Given the description of an element on the screen output the (x, y) to click on. 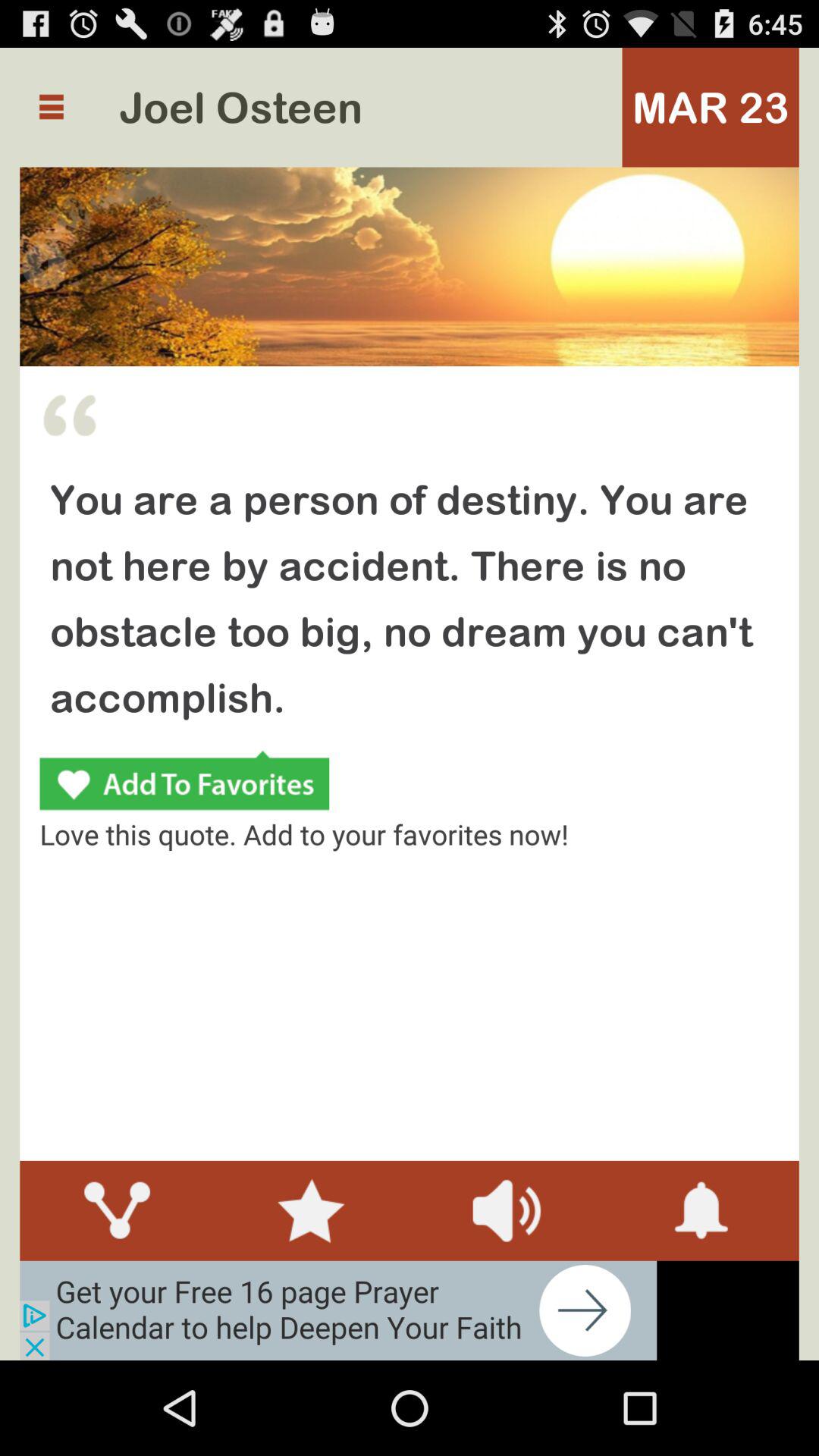
more (51, 106)
